Given the description of an element on the screen output the (x, y) to click on. 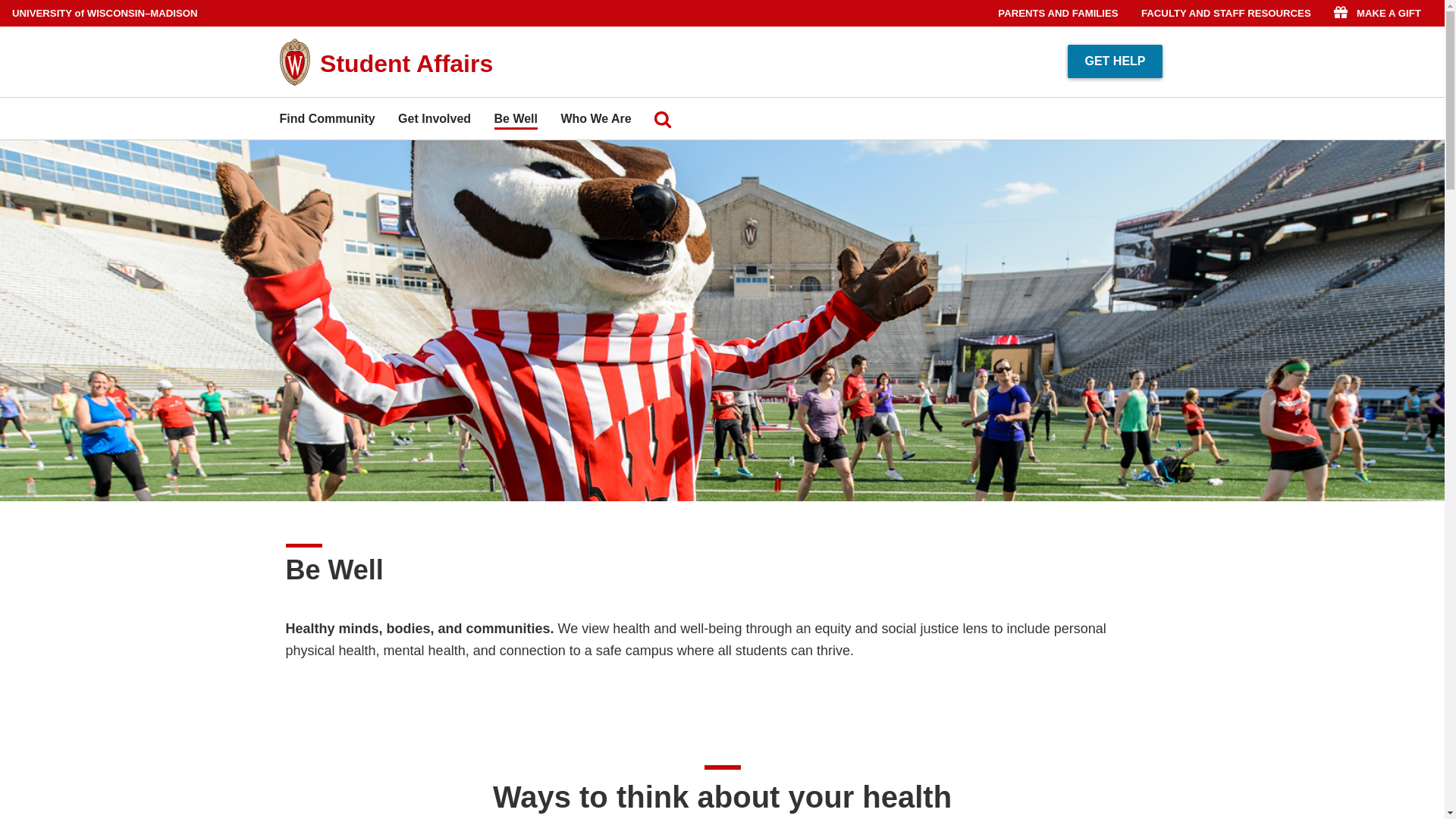
Student Affairs (406, 62)
Be Well (516, 118)
Find Community (326, 118)
MAKE A GIFT (1377, 13)
GET HELP (1114, 61)
FACULTY AND STAFF RESOURCES (1226, 13)
Search (662, 118)
PARENTS AND FAMILIES (1057, 13)
Get Involved (433, 118)
Who We Are (595, 118)
